Given the description of an element on the screen output the (x, y) to click on. 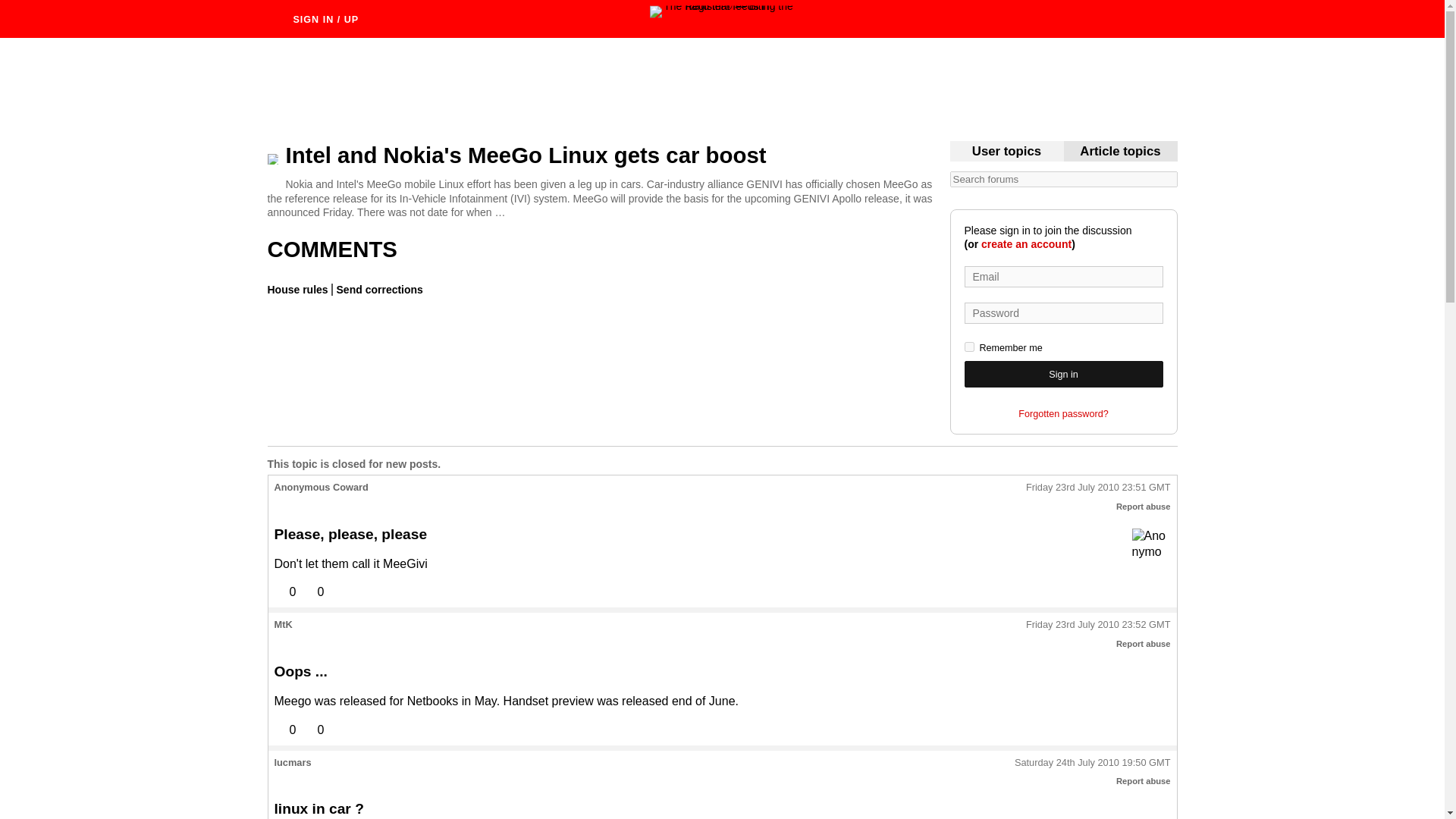
Inappropriate post? Report it to our moderators (1143, 506)
Permalink to this post (1092, 762)
Sign in (1063, 374)
Permalink to this post (1098, 487)
Forgotten password? (1063, 413)
yes (968, 347)
Dislike this post? Vote it down! (312, 729)
Commentards, Commentards, Commentards (1006, 151)
Inappropriate post? Report it to our moderators (1143, 780)
Posted by a snivelling, miserable coward (1149, 546)
